Given the description of an element on the screen output the (x, y) to click on. 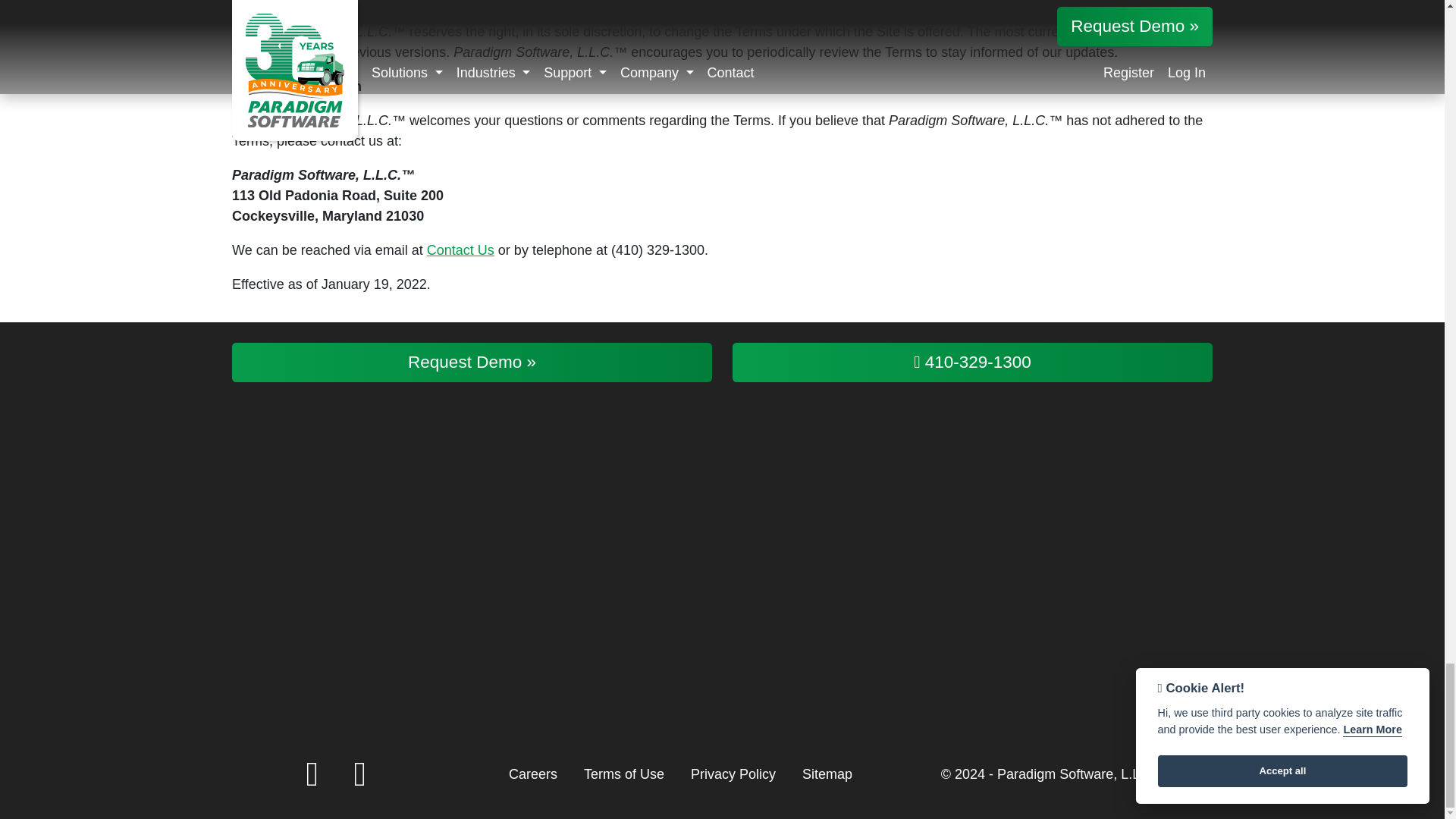
Contact Us (460, 249)
